Given the description of an element on the screen output the (x, y) to click on. 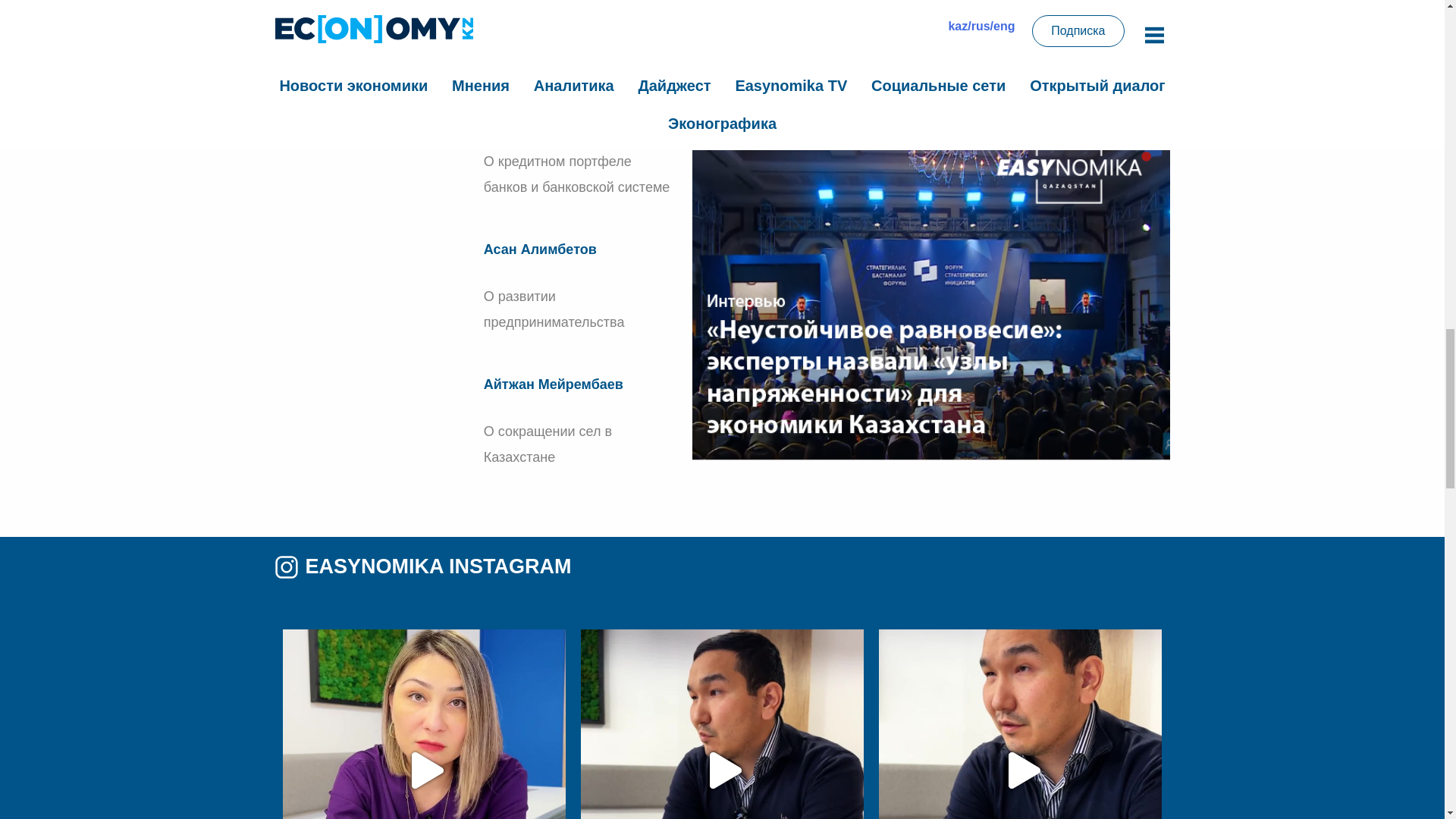
EASYNOMIKA INSTAGRAM (532, 566)
EASYNOMIKA TV (535, 54)
inst (285, 567)
